Given the description of an element on the screen output the (x, y) to click on. 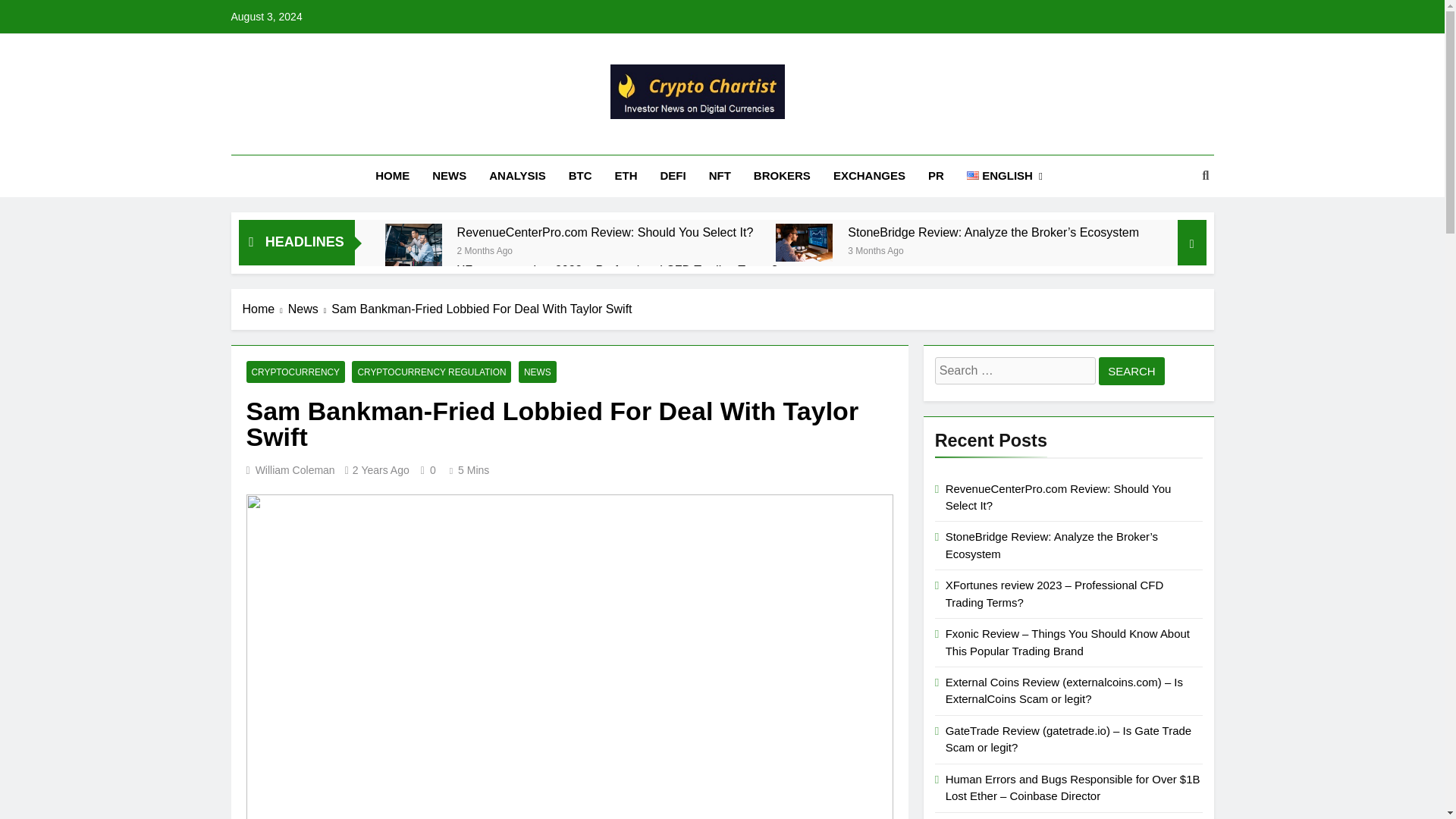
ETH (626, 175)
EXCHANGES (869, 175)
ENGLISH (1004, 176)
2 Months Ago (484, 249)
DEFI (673, 175)
Crypto Trading Guide (594, 140)
BTC (580, 175)
BROKERS (782, 175)
RevenueCenterPro.com Review: Should You Select It? (605, 232)
NFT (719, 175)
Search (1131, 370)
NEWS (448, 175)
HOME (392, 175)
RevenueCenterPro.com Review: Should You Select It? (605, 232)
3 Months Ago (874, 249)
